Given the description of an element on the screen output the (x, y) to click on. 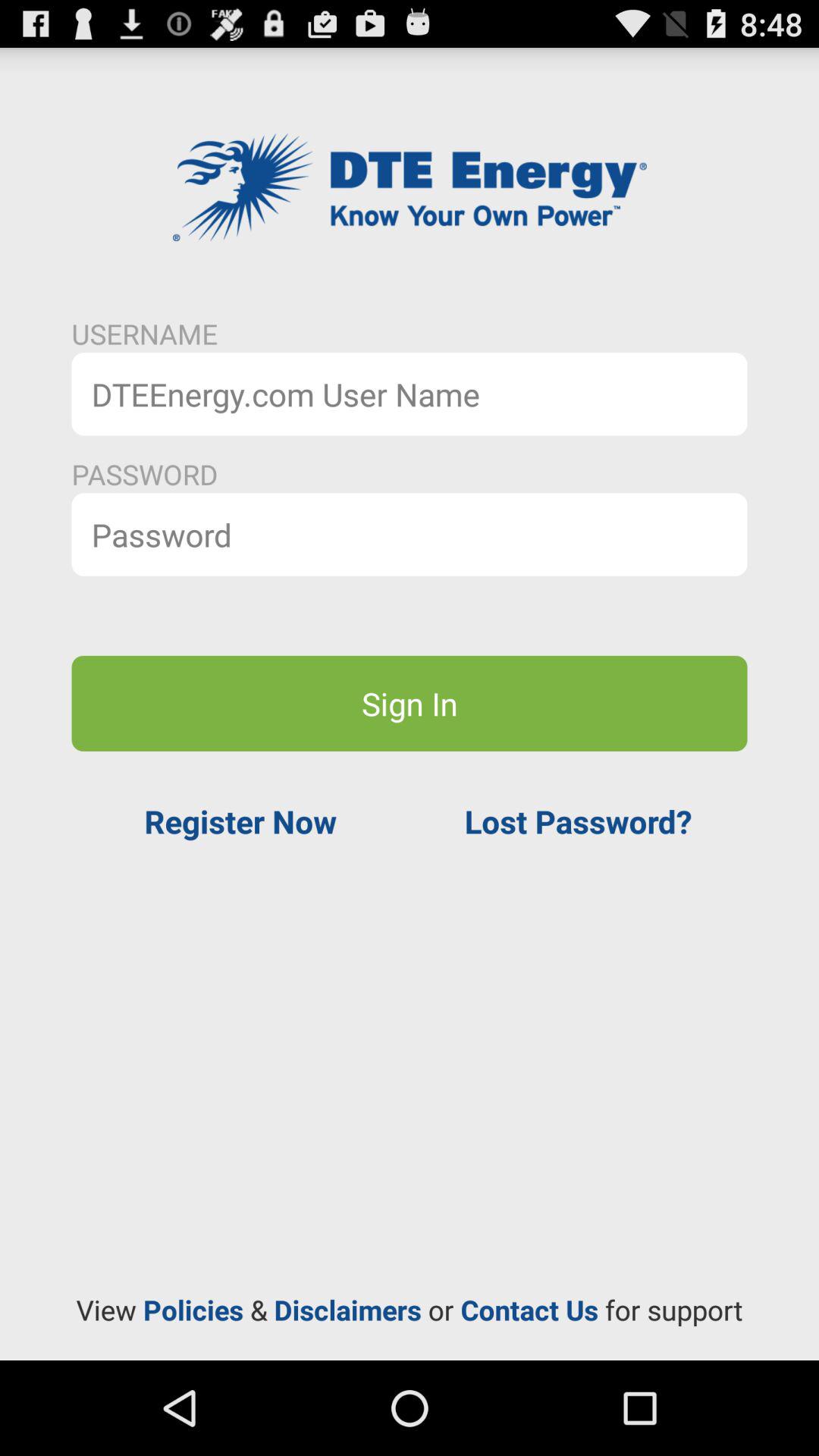
click the item at the bottom (409, 1309)
